Given the description of an element on the screen output the (x, y) to click on. 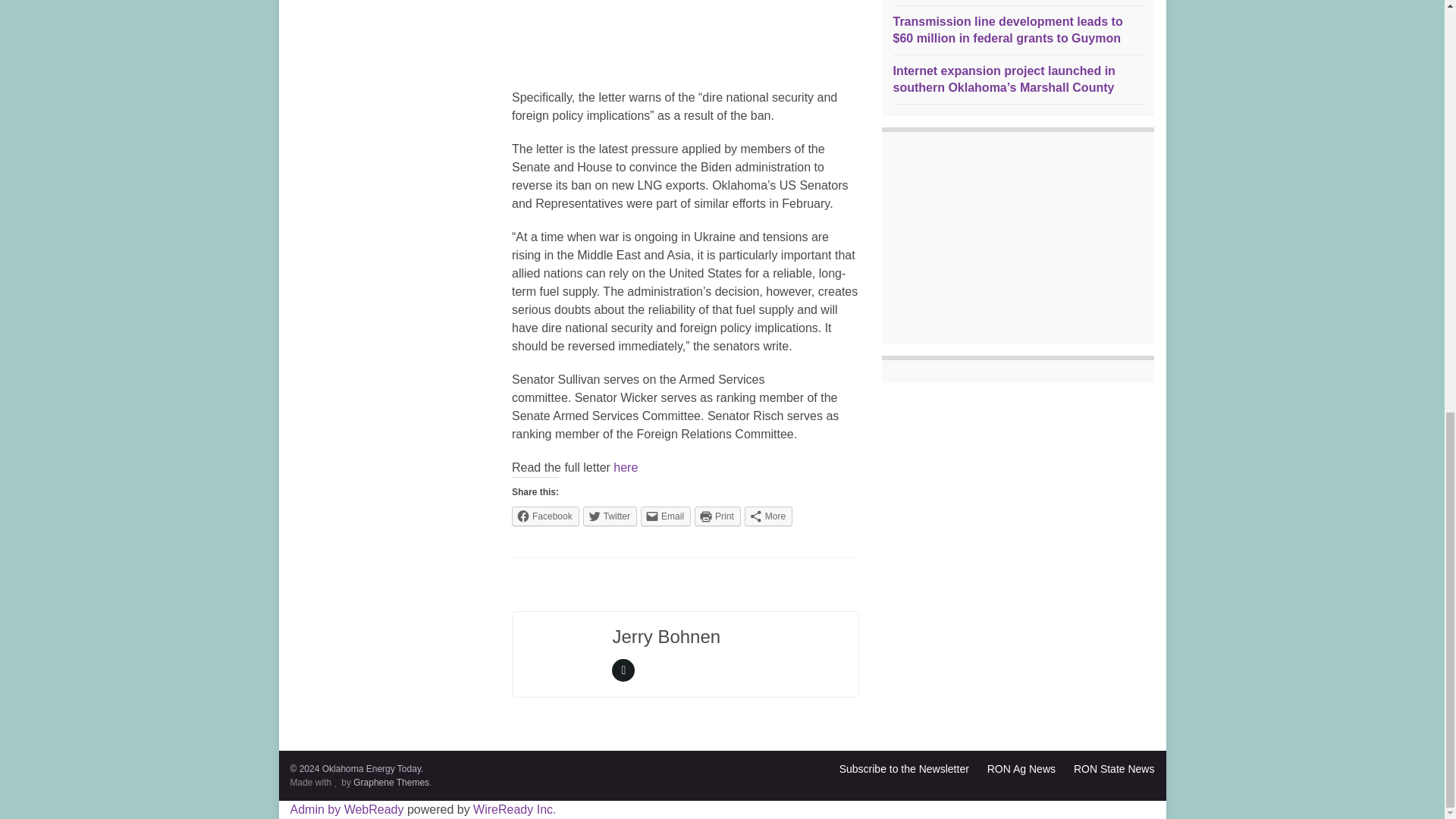
More (768, 516)
Graphene Themes (391, 782)
Admin by WebReady (346, 809)
Email (665, 516)
Print (717, 516)
Twitter (610, 516)
RON Ag News (1021, 768)
here (624, 467)
Facebook (545, 516)
Click to share on Facebook (545, 516)
Click to email a link to a friend (665, 516)
Click to share on Twitter (610, 516)
RON State News (1114, 768)
Advertisement (685, 36)
Subscribe to the Newsletter (904, 768)
